Given the description of an element on the screen output the (x, y) to click on. 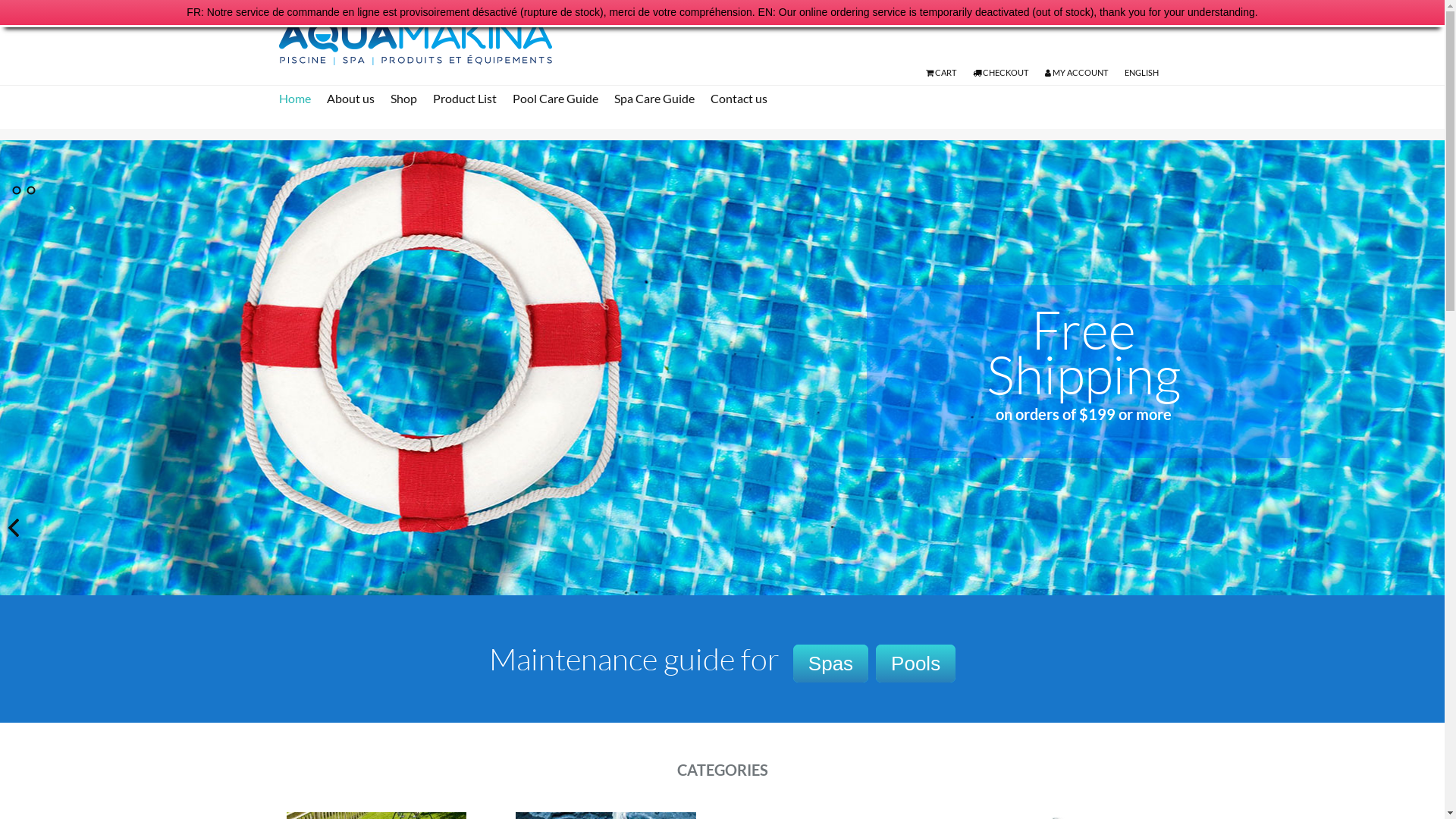
About us Element type: text (356, 98)
Previous Element type: text (15, 526)
AQUAMAKINA Element type: text (726, 41)
2 Element type: text (30, 189)
Home Element type: text (301, 98)
ENGLISH Element type: text (1140, 72)
1 Element type: text (16, 189)
CHECKOUT Element type: text (999, 72)
Pool Care Guide Element type: text (561, 98)
MY ACCOUNT Element type: text (1076, 72)
Skip to primary navigation Element type: text (0, 0)
Spa Care Guide Element type: text (661, 98)
CART Element type: text (940, 72)
Shop Element type: text (409, 98)
Product List Element type: text (470, 98)
Contact us Element type: text (744, 98)
